Given the description of an element on the screen output the (x, y) to click on. 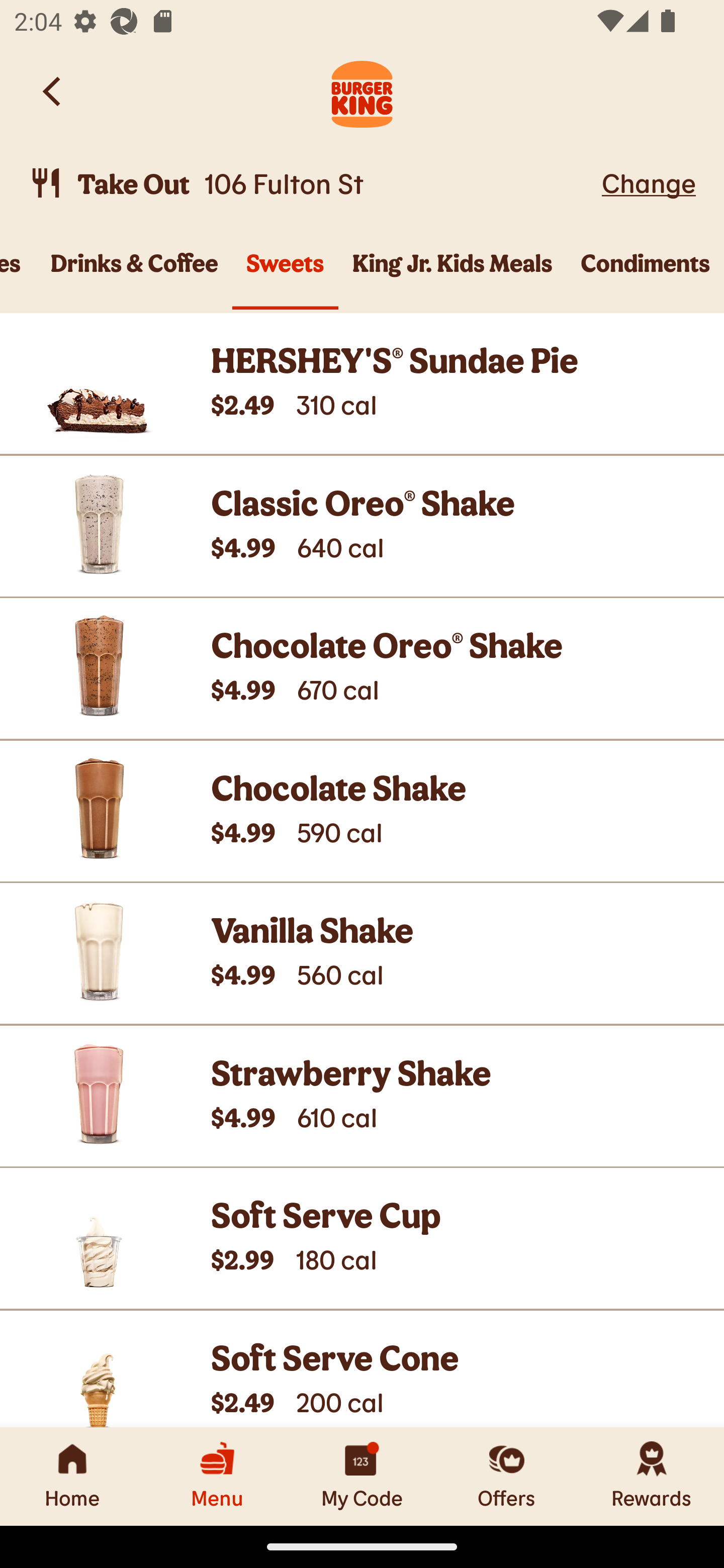
Burger King Logo. Navigate to Home (362, 91)
Back (52, 91)
Take Out, 106 Fulton St  Take Out 106 Fulton St (311, 183)
Change (648, 182)
Drinks & Coffee (134, 273)
Sweets (285, 273)
King Jr. Kids Meals (452, 273)
Condiments (645, 273)
Home (72, 1475)
Menu (216, 1475)
My Code (361, 1475)
Offers (506, 1475)
Rewards (651, 1475)
